Given the description of an element on the screen output the (x, y) to click on. 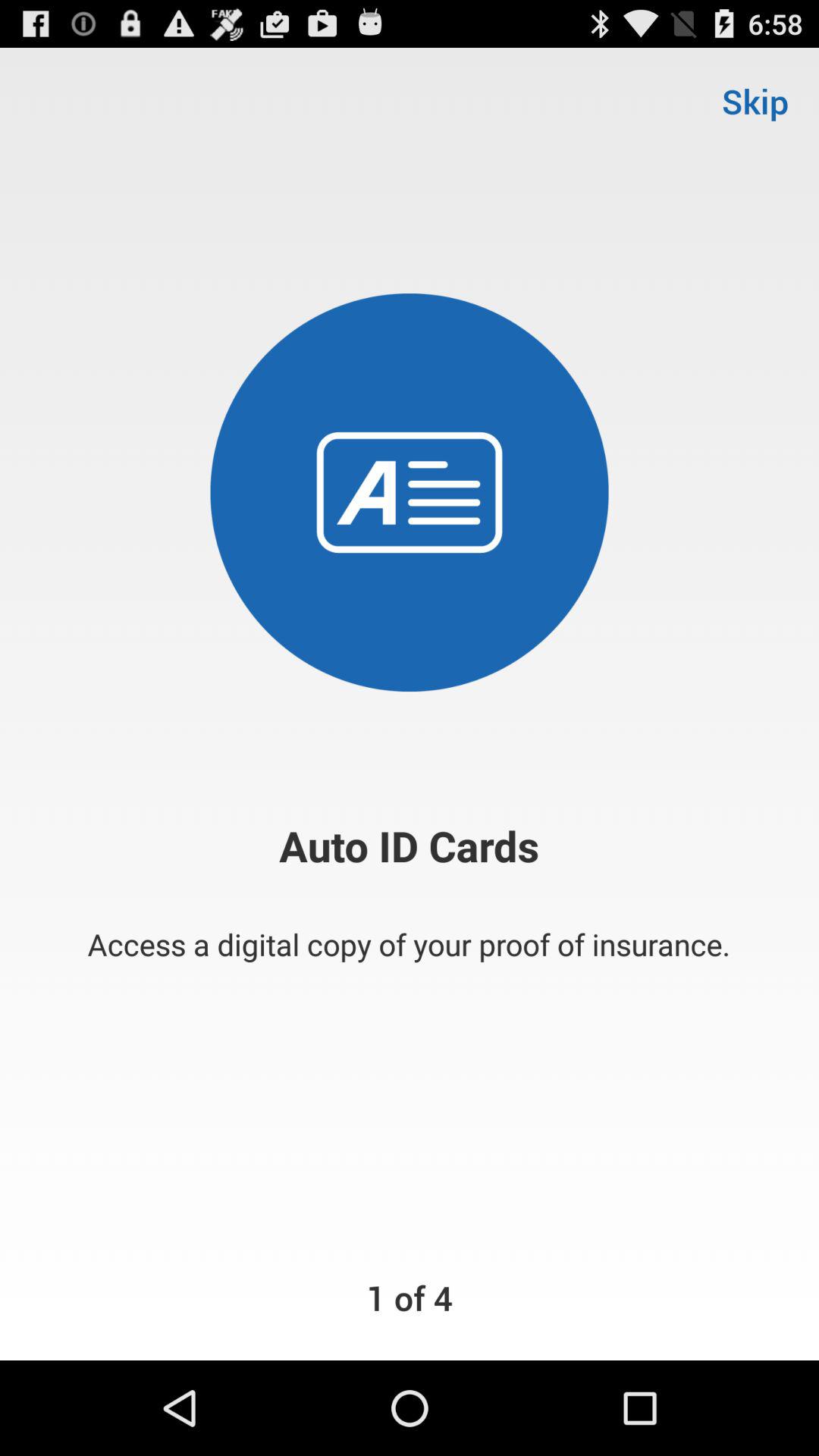
press skip icon (754, 100)
